Given the description of an element on the screen output the (x, y) to click on. 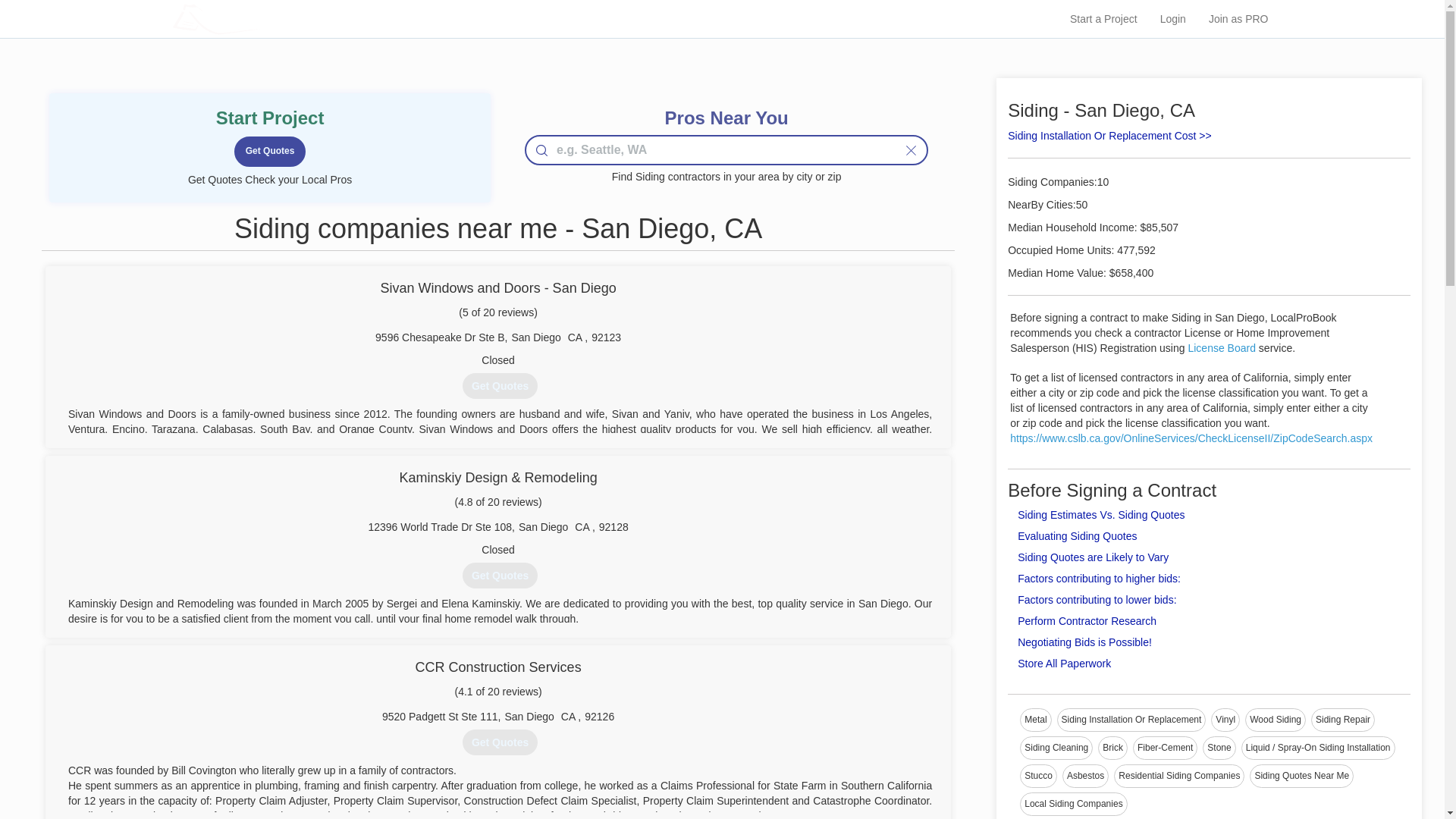
LOCALPROBOOK (252, 18)
Get Quotes (500, 575)
Get Quotes (500, 742)
Perform Contractor Research (1086, 621)
Negotiating Bids is Possible! (1084, 642)
Evaluating Siding Quotes (1077, 535)
Factors contributing to lower bids: (1096, 599)
Get Quotes (269, 151)
Join as PRO (1237, 18)
Get Quotes (500, 385)
